Given the description of an element on the screen output the (x, y) to click on. 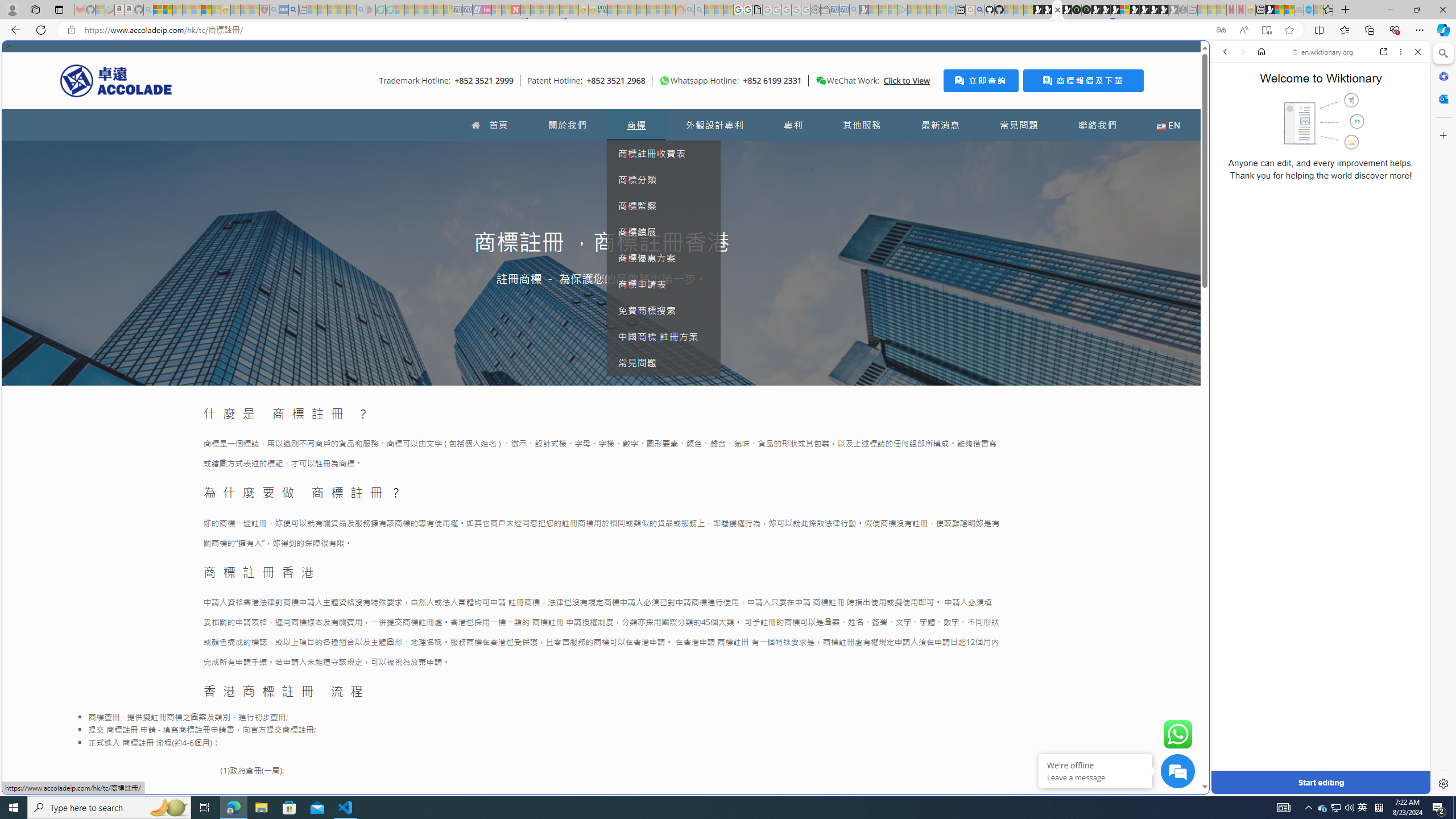
Play Free Online Games | Games from Microsoft Start (1144, 9)
Frequently visited (965, 151)
New Report Confirms 2023 Was Record Hot | Watch - Sleeping (196, 9)
Kinda Frugal - MSN - Sleeping (651, 9)
Latest Politics News & Archive | Newsweek.com - Sleeping (515, 9)
Search Filter, VIDEOS (1300, 129)
Open link in new tab (1383, 51)
